Given the description of an element on the screen output the (x, y) to click on. 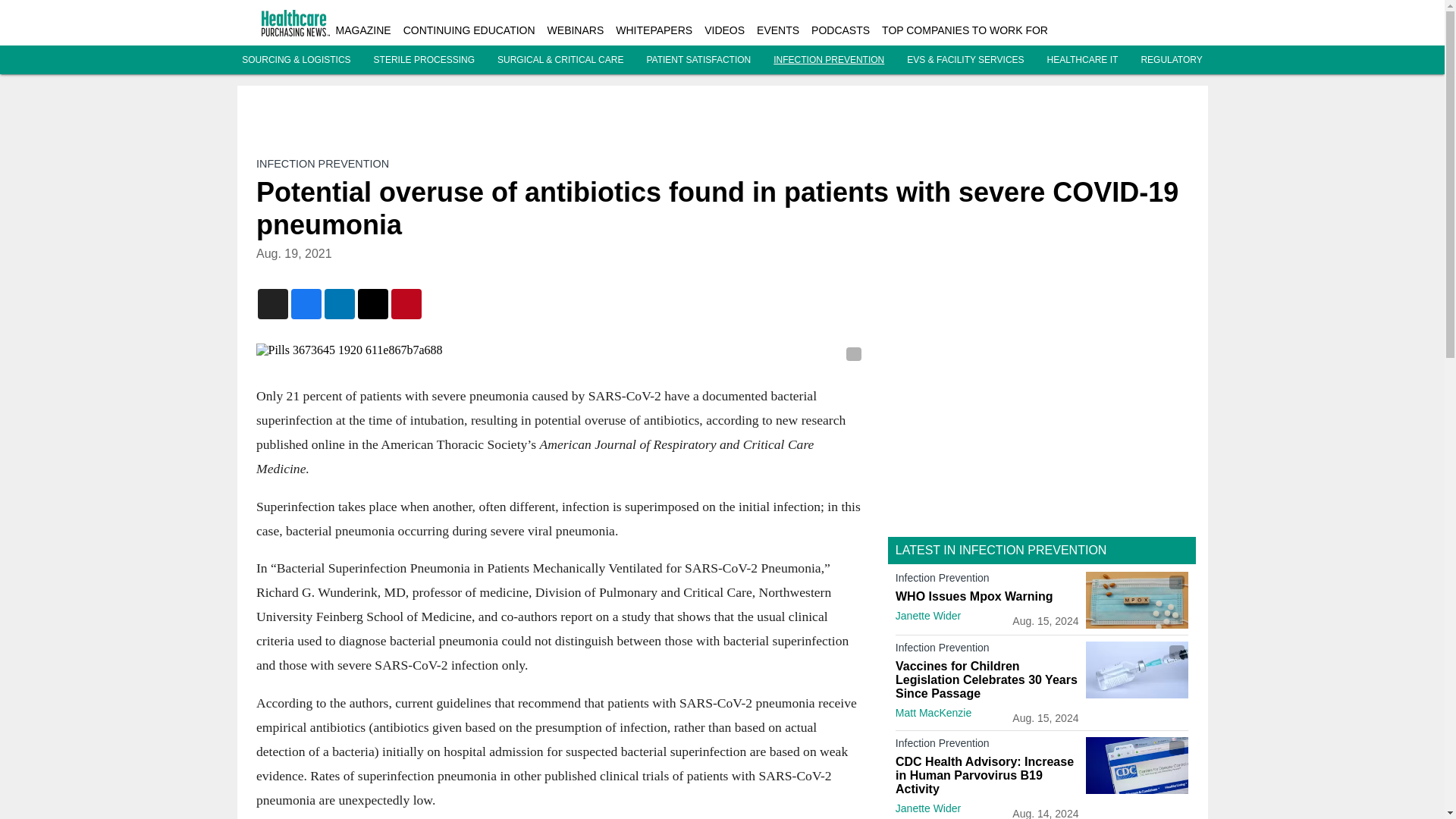
HEALTHCARE IT (1082, 59)
LATEST IN INFECTION PREVENTION (1000, 549)
PODCASTS (839, 30)
EVENTS (778, 30)
TOP COMPANIES TO WORK FOR (965, 30)
REGULATORY (1171, 59)
CONTINUING EDUCATION (469, 30)
PATIENT SATISFACTION (698, 59)
Pills 3673645 1920 611e867b7a688 (560, 350)
